Given the description of an element on the screen output the (x, y) to click on. 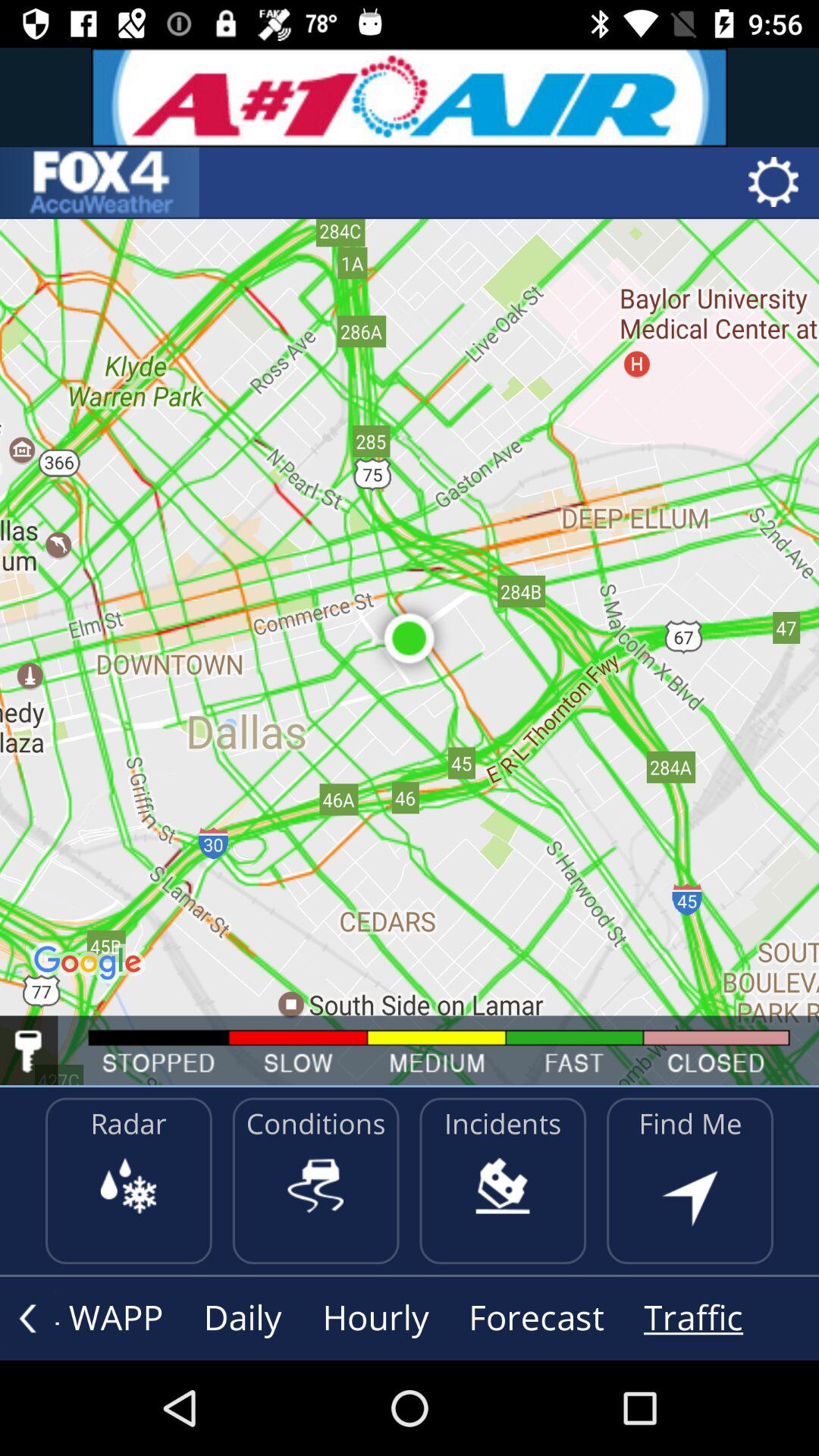
click to lock screen (29, 1051)
